Given the description of an element on the screen output the (x, y) to click on. 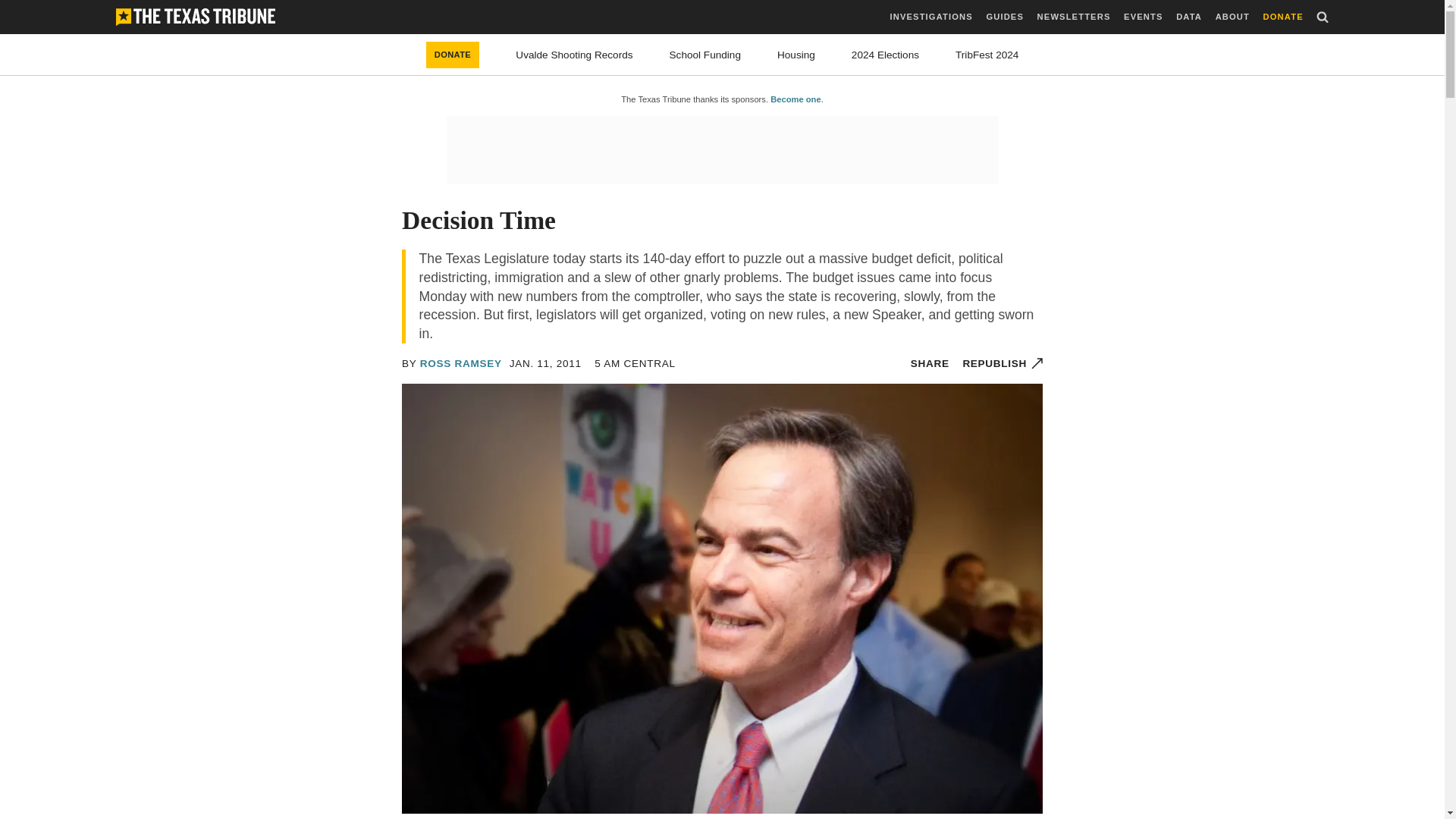
ROSS RAMSEY (461, 363)
2011-01-11 05:00 CST (634, 363)
Become one (795, 99)
ABOUT (1232, 17)
DONATE (453, 54)
REPUBLISH (1002, 363)
INVESTIGATIONS (930, 17)
3rd party ad content (721, 150)
NEWSLETTERS (1073, 17)
2011-01-11 05:00 CST (544, 363)
